Given the description of an element on the screen output the (x, y) to click on. 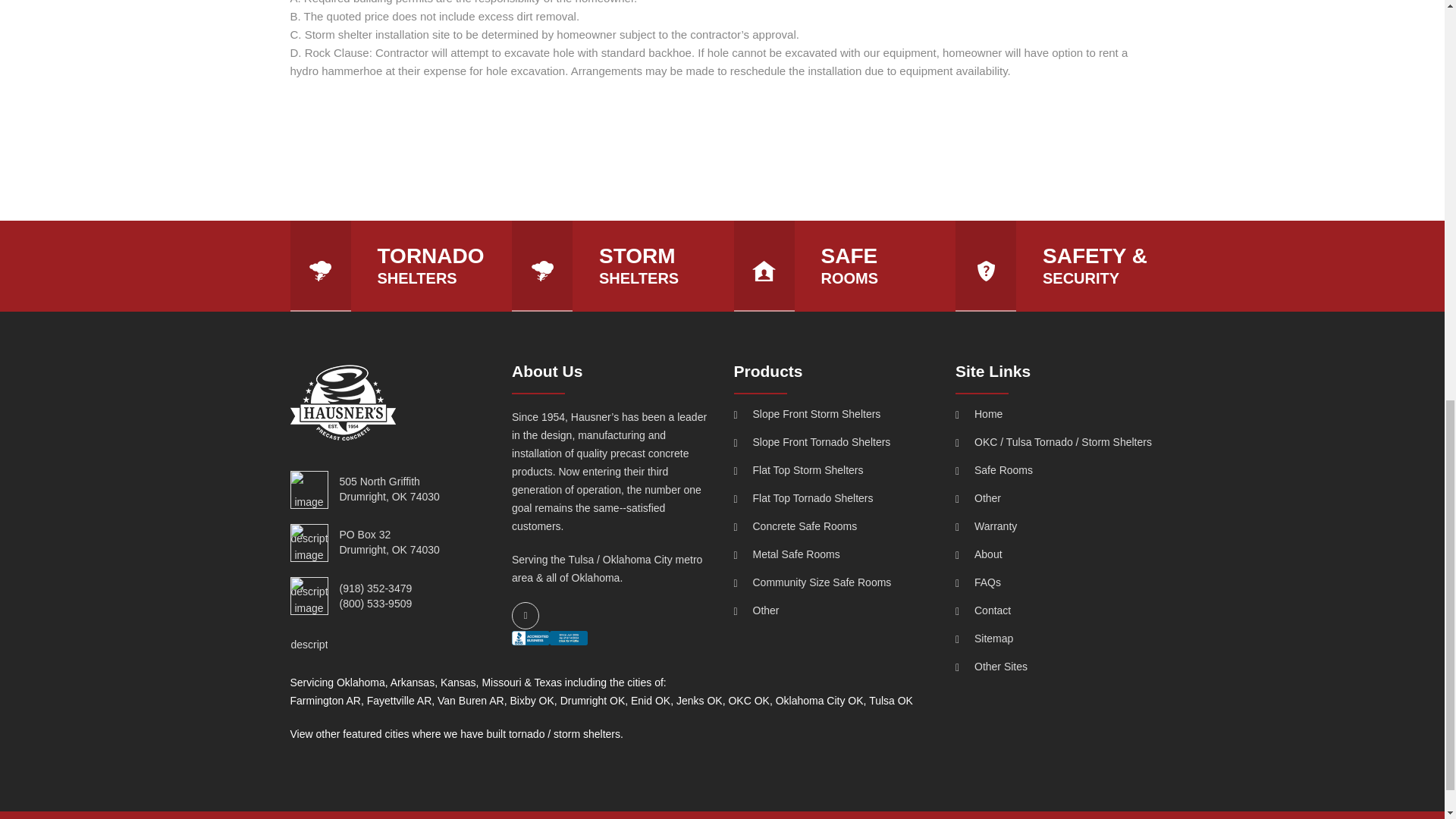
Flat Top Tornado Shelters (833, 498)
Warranty (1054, 526)
Flat Top Storm Shelters (833, 470)
Home (1054, 413)
Concrete Safe Rooms (833, 526)
Community Size Safe Rooms (833, 582)
Other (833, 610)
Slope Front Tornado Shelters (833, 441)
Metal Safe Rooms (833, 554)
Slope Front Storm Shelters (833, 413)
